Given the description of an element on the screen output the (x, y) to click on. 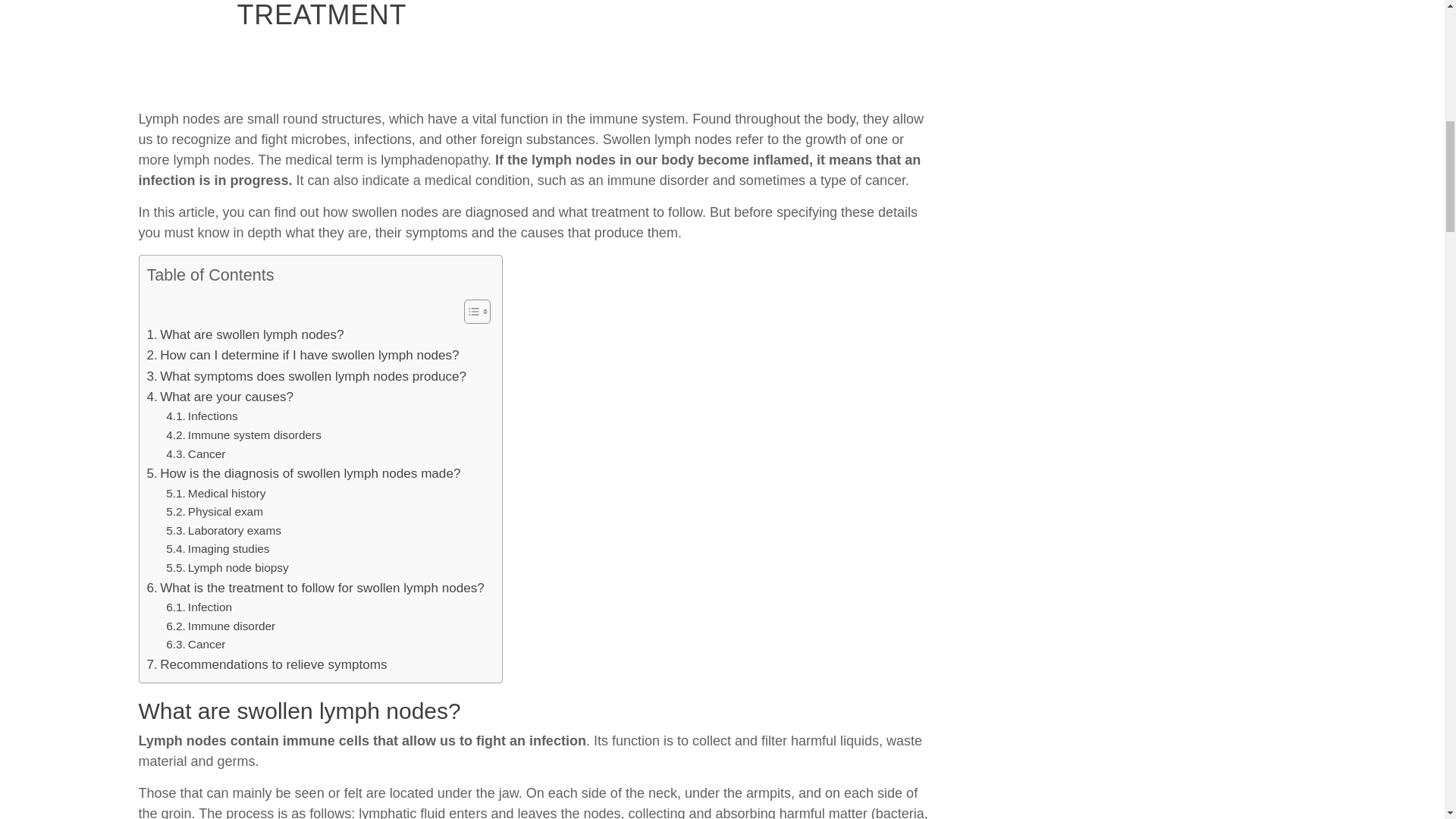
What is the treatment to follow for swollen lymph nodes? (315, 588)
Imaging studies (217, 548)
Cancer (195, 454)
How is the diagnosis of swollen lymph nodes made? (304, 473)
How can I determine if I have swollen lymph nodes? (303, 354)
Cancer (195, 454)
Lymph node biopsy (226, 568)
How is the diagnosis of swollen lymph nodes made? (304, 473)
Immune system disorders (243, 435)
What symptoms does swollen lymph nodes produce? (306, 376)
